Given the description of an element on the screen output the (x, y) to click on. 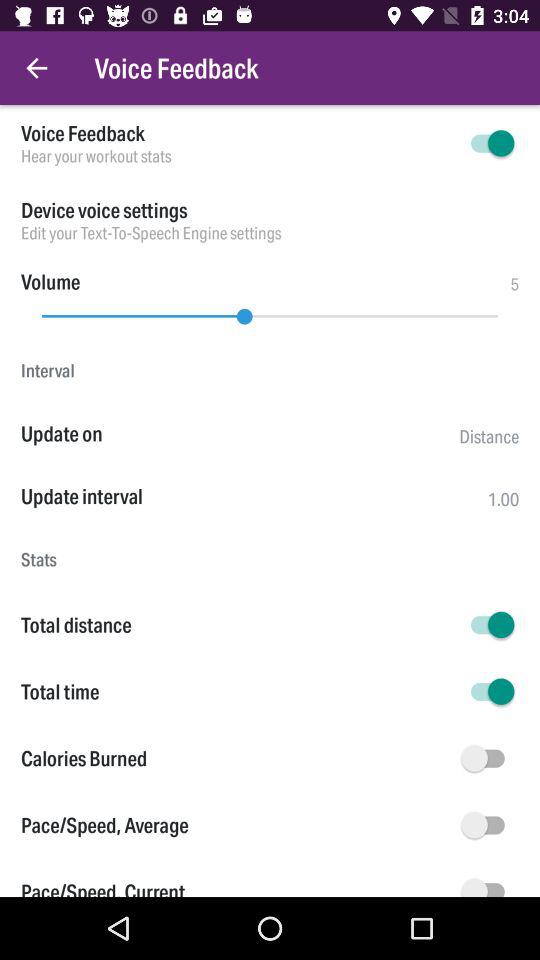
tap the icon above the volume (270, 232)
